Given the description of an element on the screen output the (x, y) to click on. 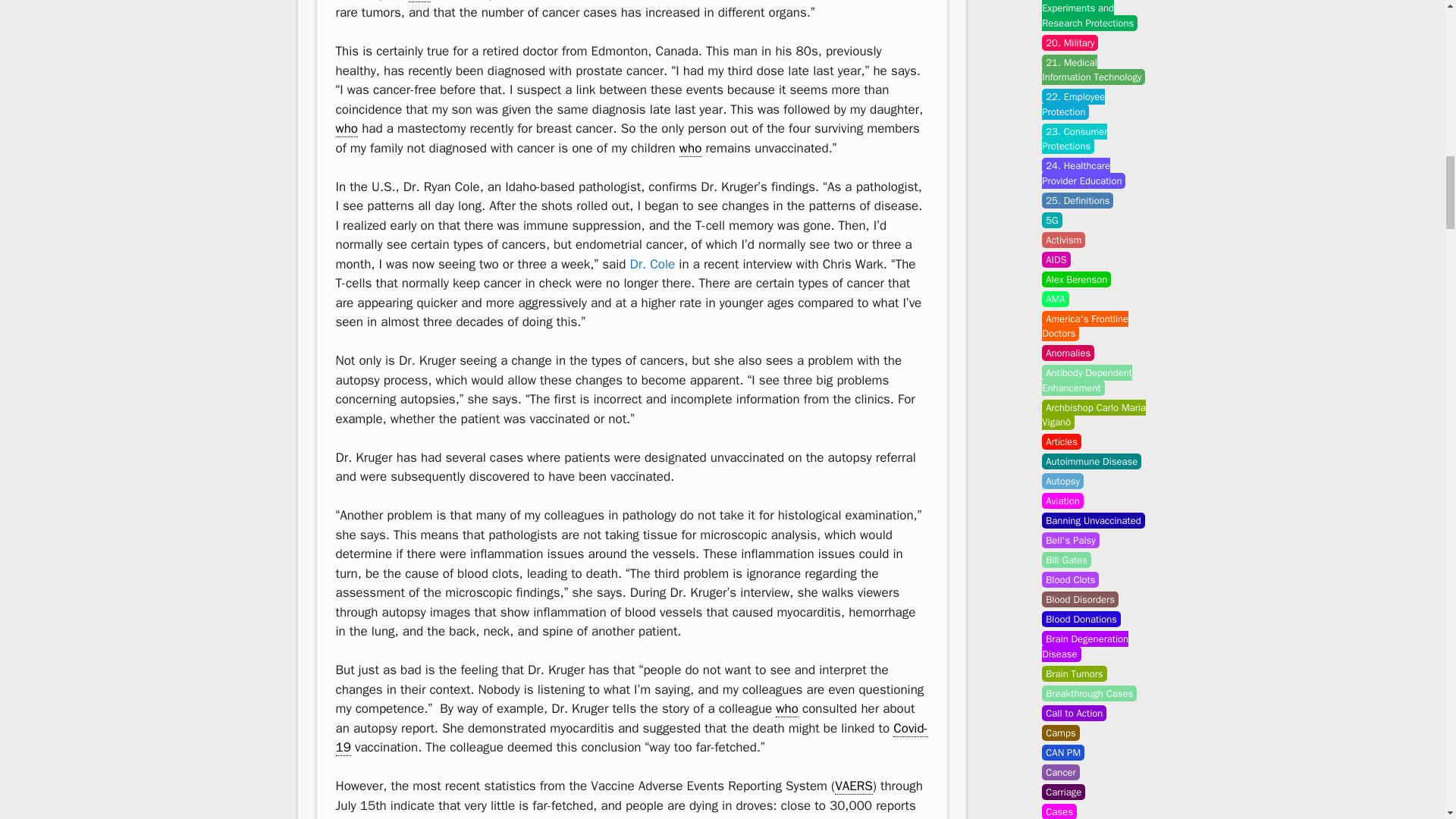
who (786, 709)
Dr. Cole (651, 263)
who (690, 148)
who (419, 1)
who (346, 128)
